Given the description of an element on the screen output the (x, y) to click on. 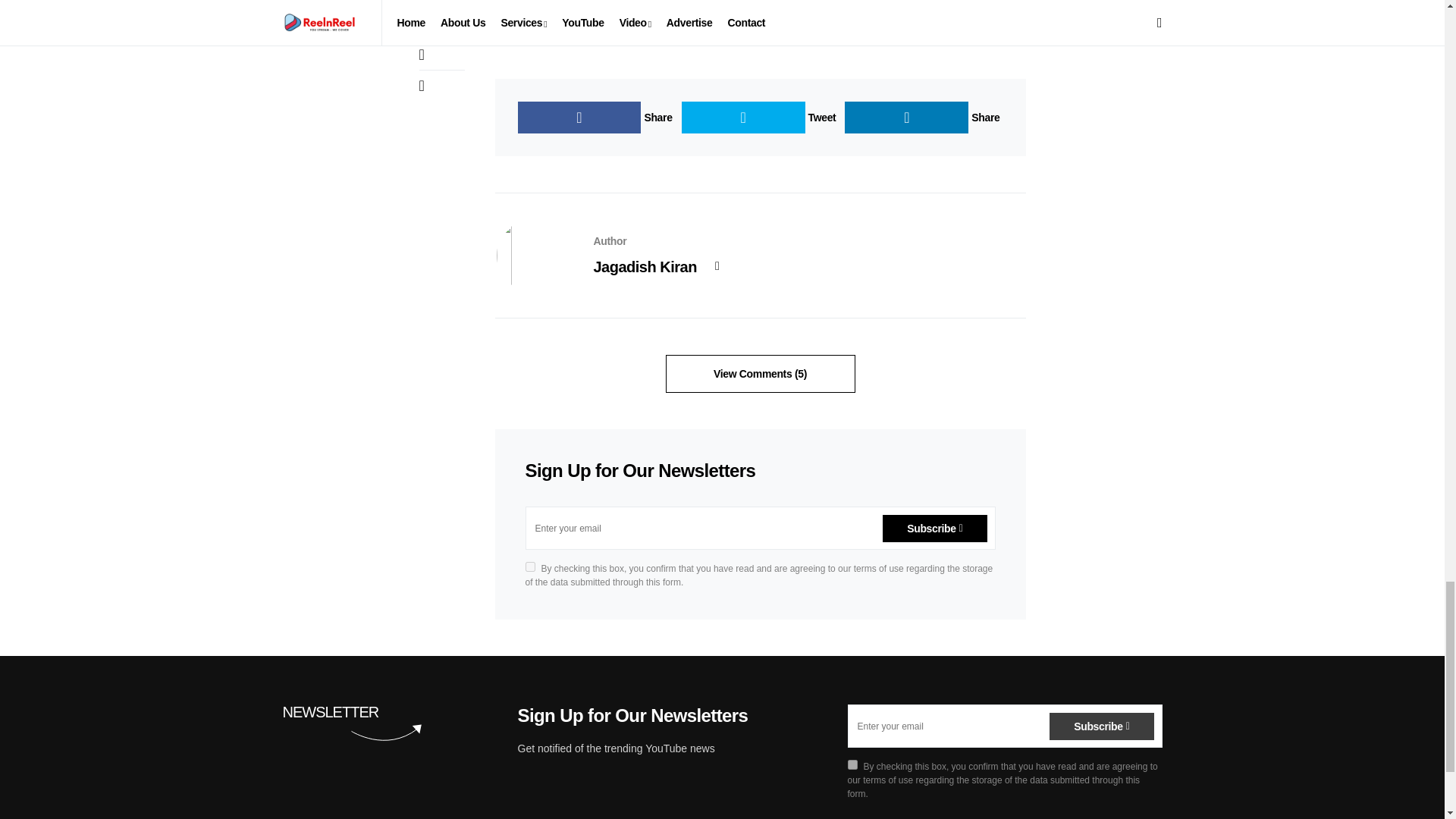
on (852, 764)
on (529, 566)
